Given the description of an element on the screen output the (x, y) to click on. 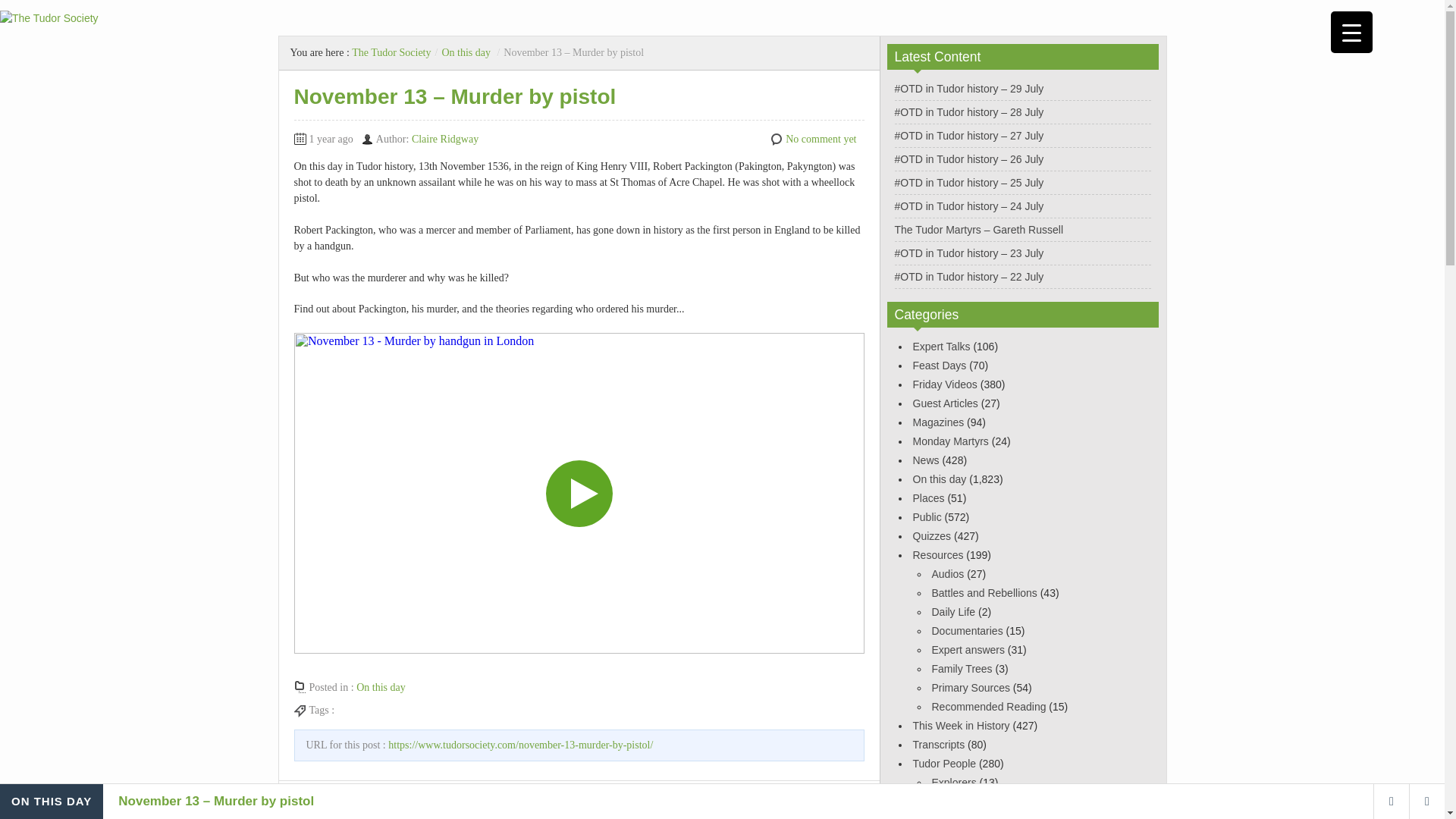
On this day (939, 479)
Expert Talks (941, 346)
On this day (465, 52)
Magazines (937, 422)
News (925, 460)
Public (927, 517)
The Tudor Society (391, 52)
On this day (381, 686)
Friday Videos (944, 384)
Claire Ridgway (445, 138)
Guest Articles (945, 403)
Monday Martyrs (950, 440)
Feast Days (939, 365)
No comment yet (821, 138)
